Given the description of an element on the screen output the (x, y) to click on. 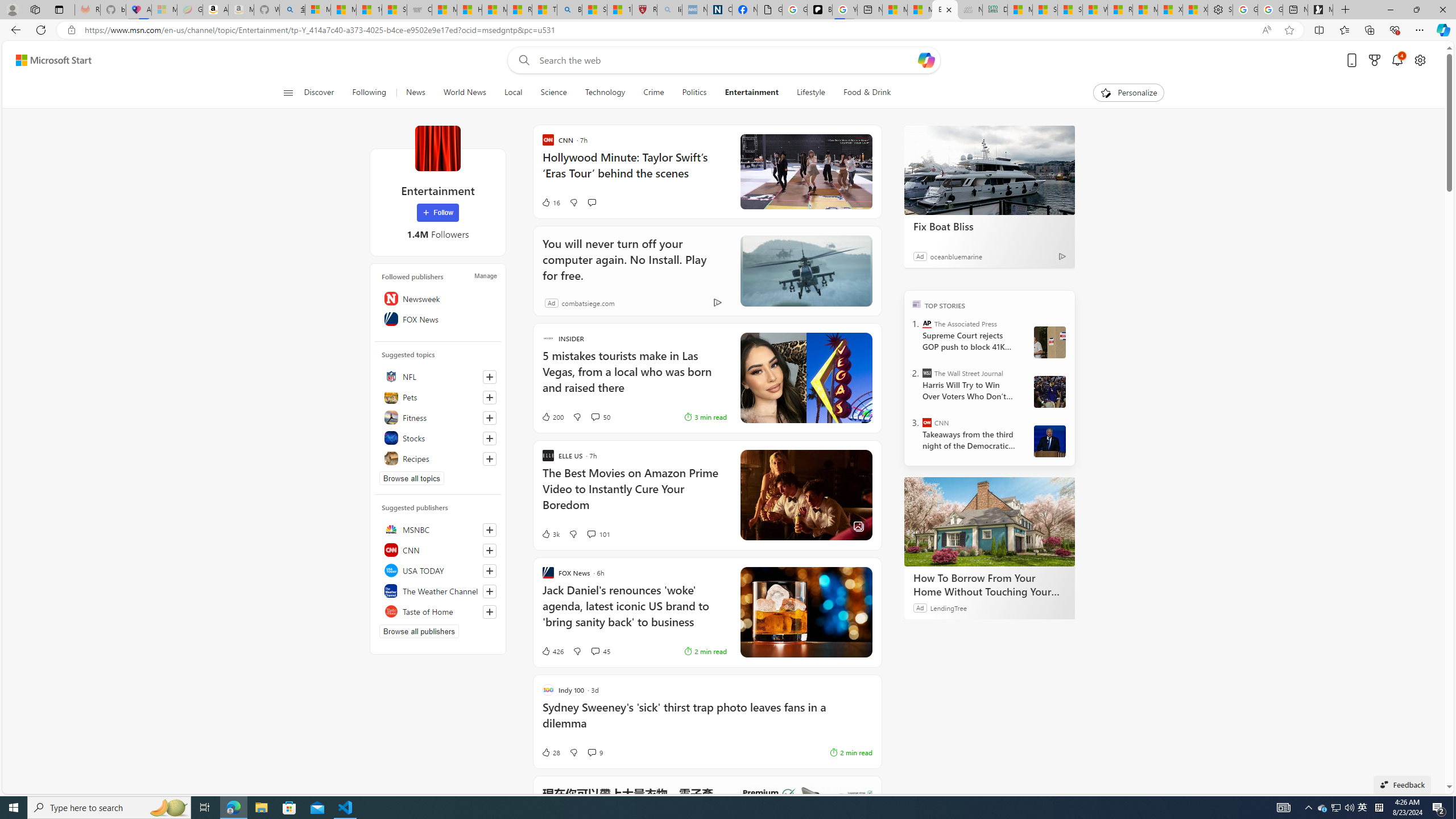
LendingTree (948, 607)
Open navigation menu (287, 92)
Class: button-glyph (287, 92)
Microsoft Start Gaming (1320, 9)
